Given the description of an element on the screen output the (x, y) to click on. 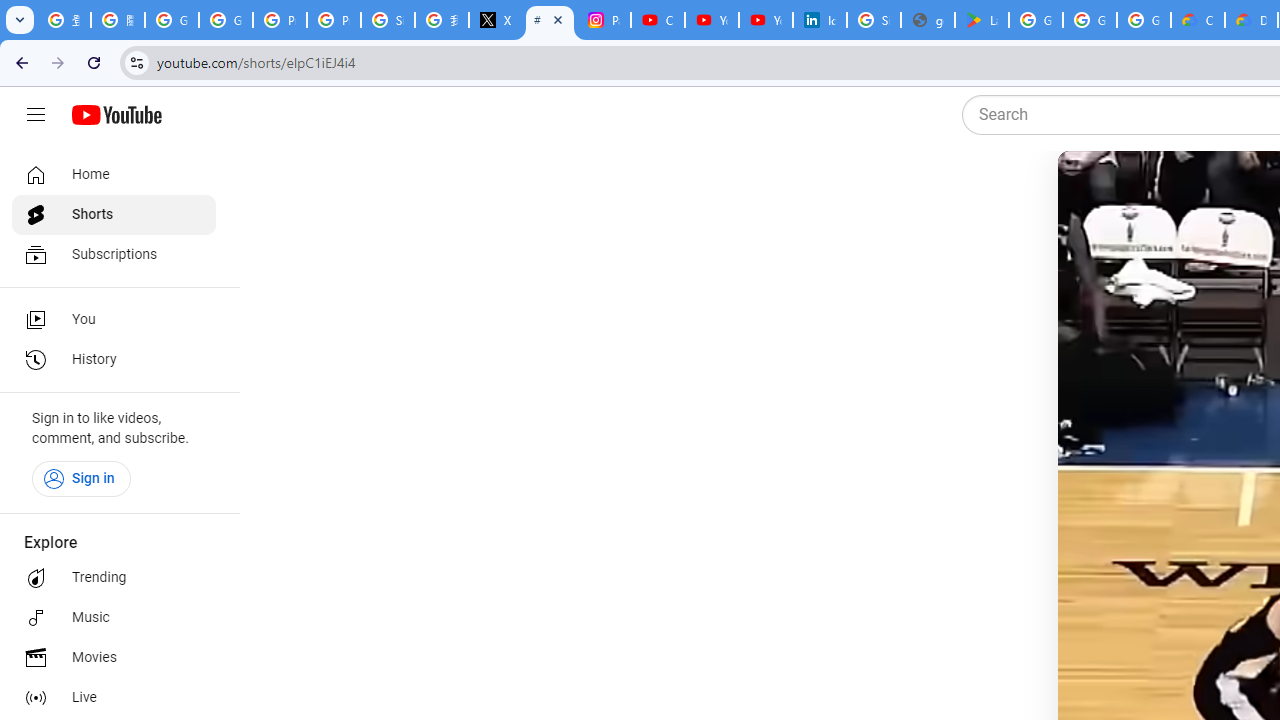
X (495, 20)
History (113, 359)
YouTube Home (116, 115)
Live (113, 697)
Mute (1161, 191)
Privacy Help Center - Policies Help (333, 20)
Mute (1154, 191)
Shorts (113, 214)
google_privacy_policy_en.pdf (927, 20)
